Given the description of an element on the screen output the (x, y) to click on. 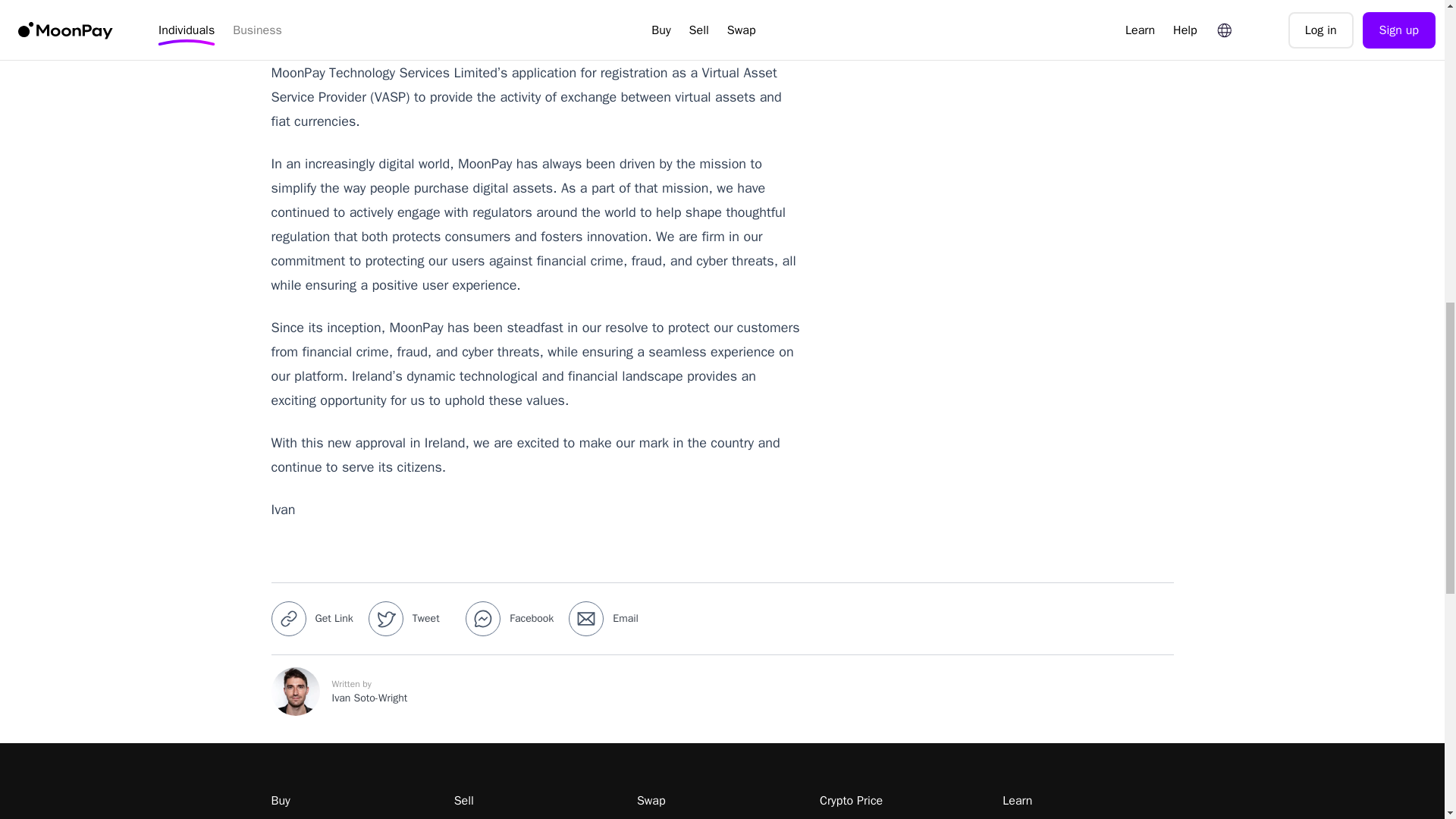
Get Link (316, 618)
Email (608, 618)
Facebook (513, 618)
Tweet (414, 618)
Sell Bitcoin (539, 817)
Buy Bitcoin (356, 817)
